Given the description of an element on the screen output the (x, y) to click on. 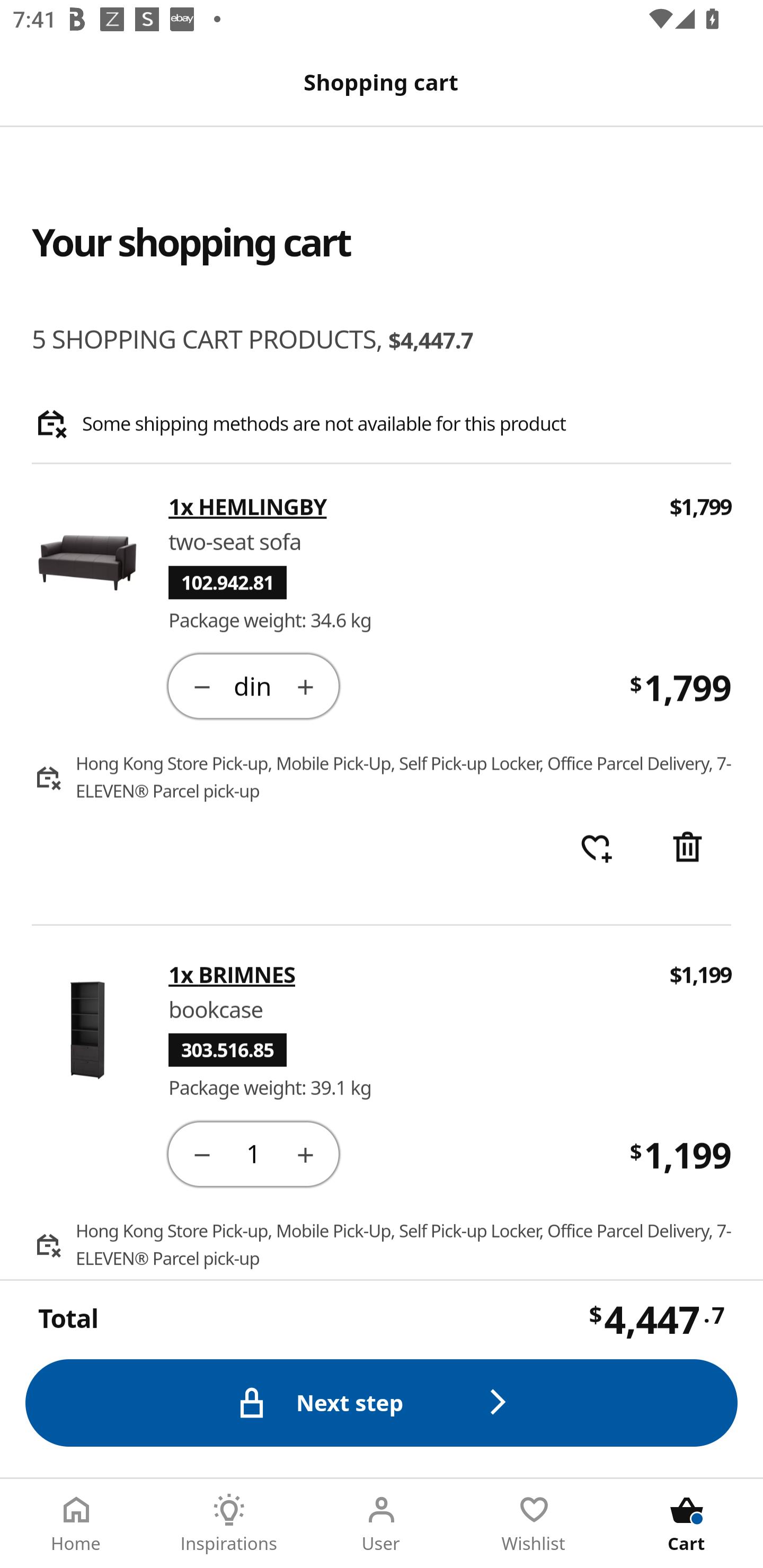
1x  HEMLINGBY 1x  HEMLINGBY (406, 507)
dining chair (253, 685)
 (201, 685)
 (305, 685)
  (595, 848)
 (686, 848)
1x  BRIMNES 1x  BRIMNES (406, 974)
1 (253, 1153)
 (201, 1153)
 (305, 1153)
Home
Tab 1 of 5 (76, 1522)
Inspirations
Tab 2 of 5 (228, 1522)
User
Tab 3 of 5 (381, 1522)
Wishlist
Tab 4 of 5 (533, 1522)
Cart
Tab 5 of 5 (686, 1522)
